Given the description of an element on the screen output the (x, y) to click on. 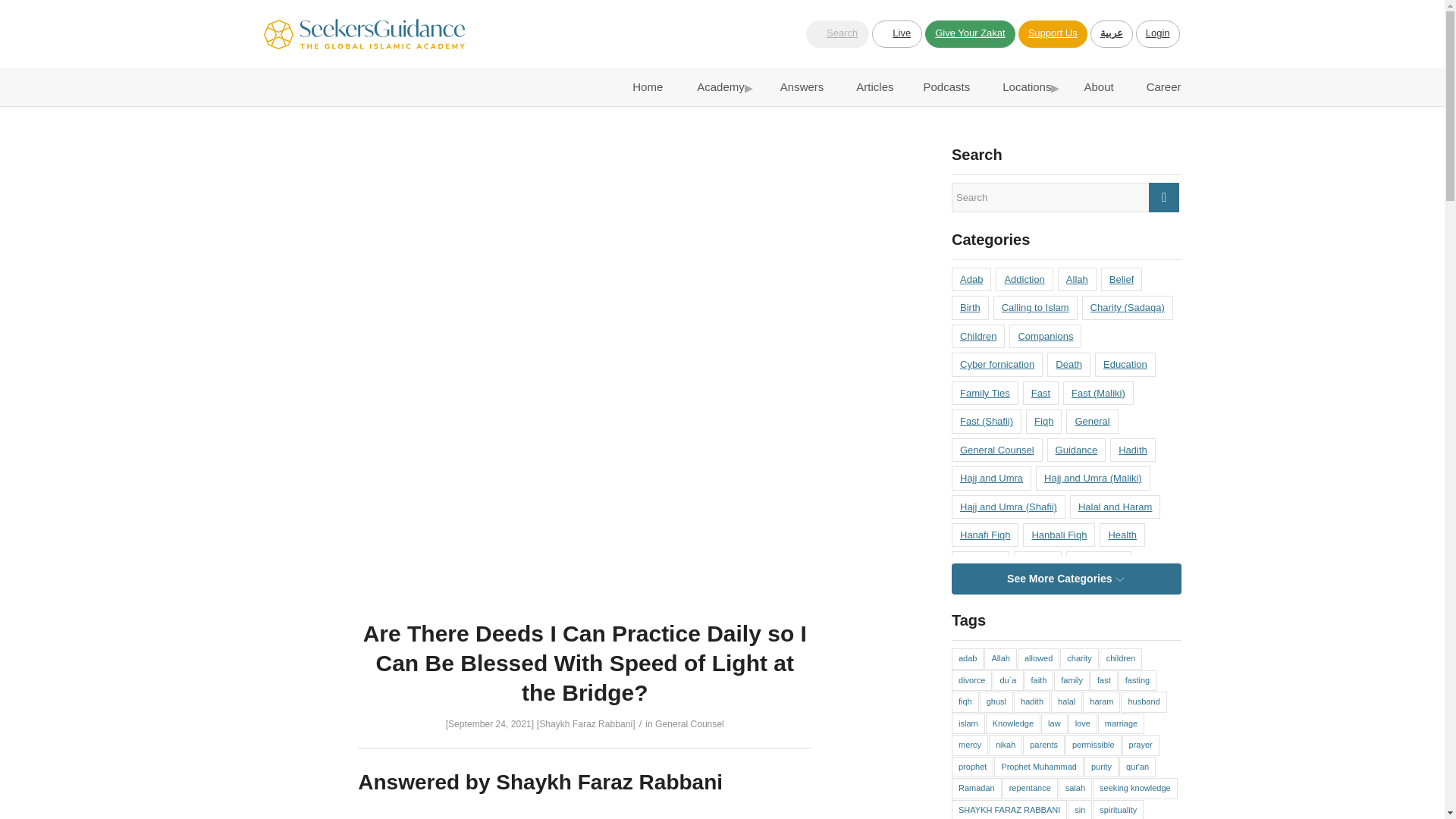
Search (837, 33)
Give Your Zakat (969, 33)
Academy (716, 86)
General Counsel (689, 724)
Login (1157, 33)
Articles (871, 86)
Answers (797, 86)
About (1095, 86)
Shaykh Faraz Rabbani (584, 724)
